Given the description of an element on the screen output the (x, y) to click on. 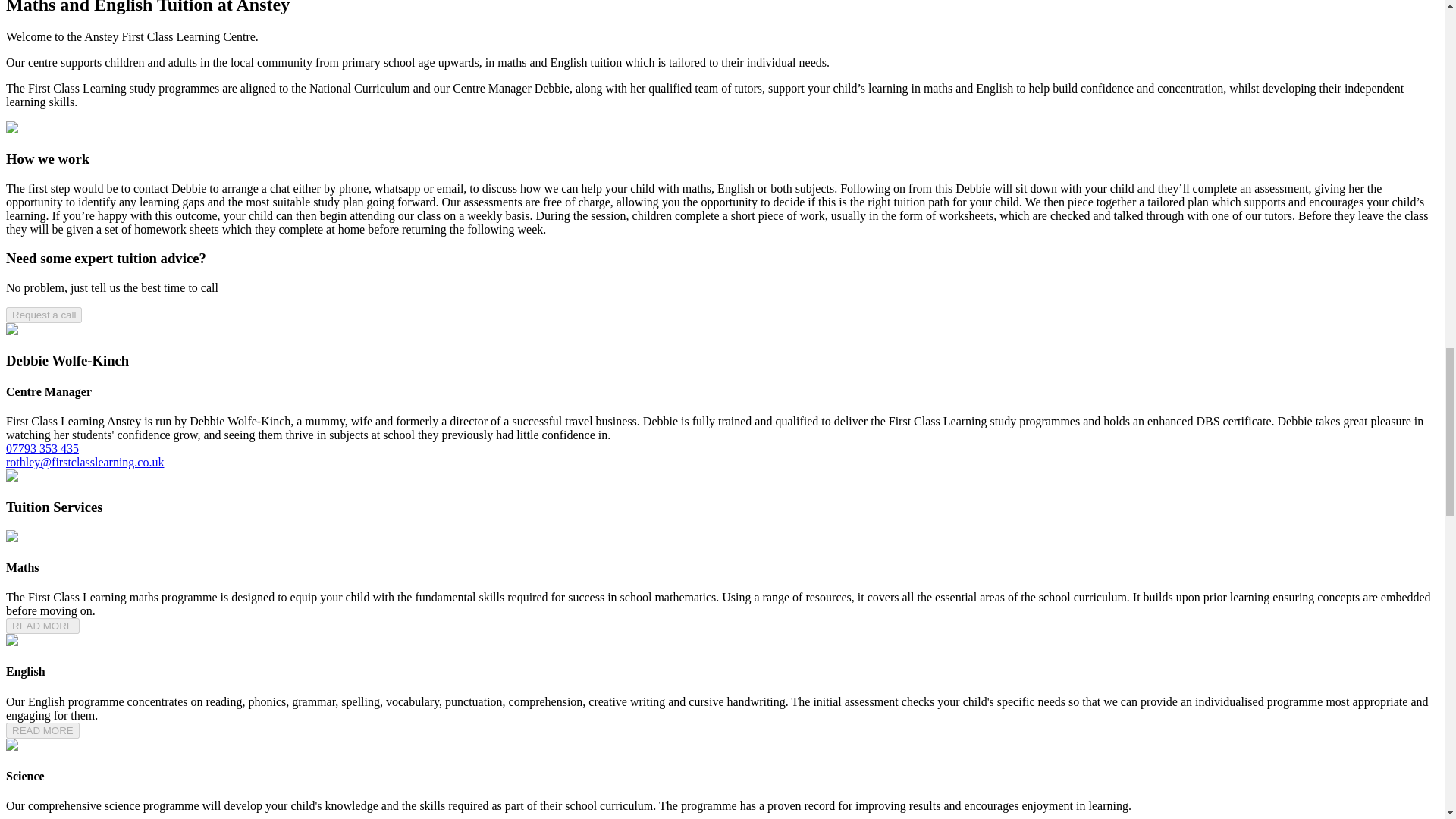
READ MORE (42, 625)
07793 353 435 (41, 448)
READ MORE (42, 729)
READ MORE (42, 730)
Request a call (43, 314)
READ MORE (42, 625)
